Given the description of an element on the screen output the (x, y) to click on. 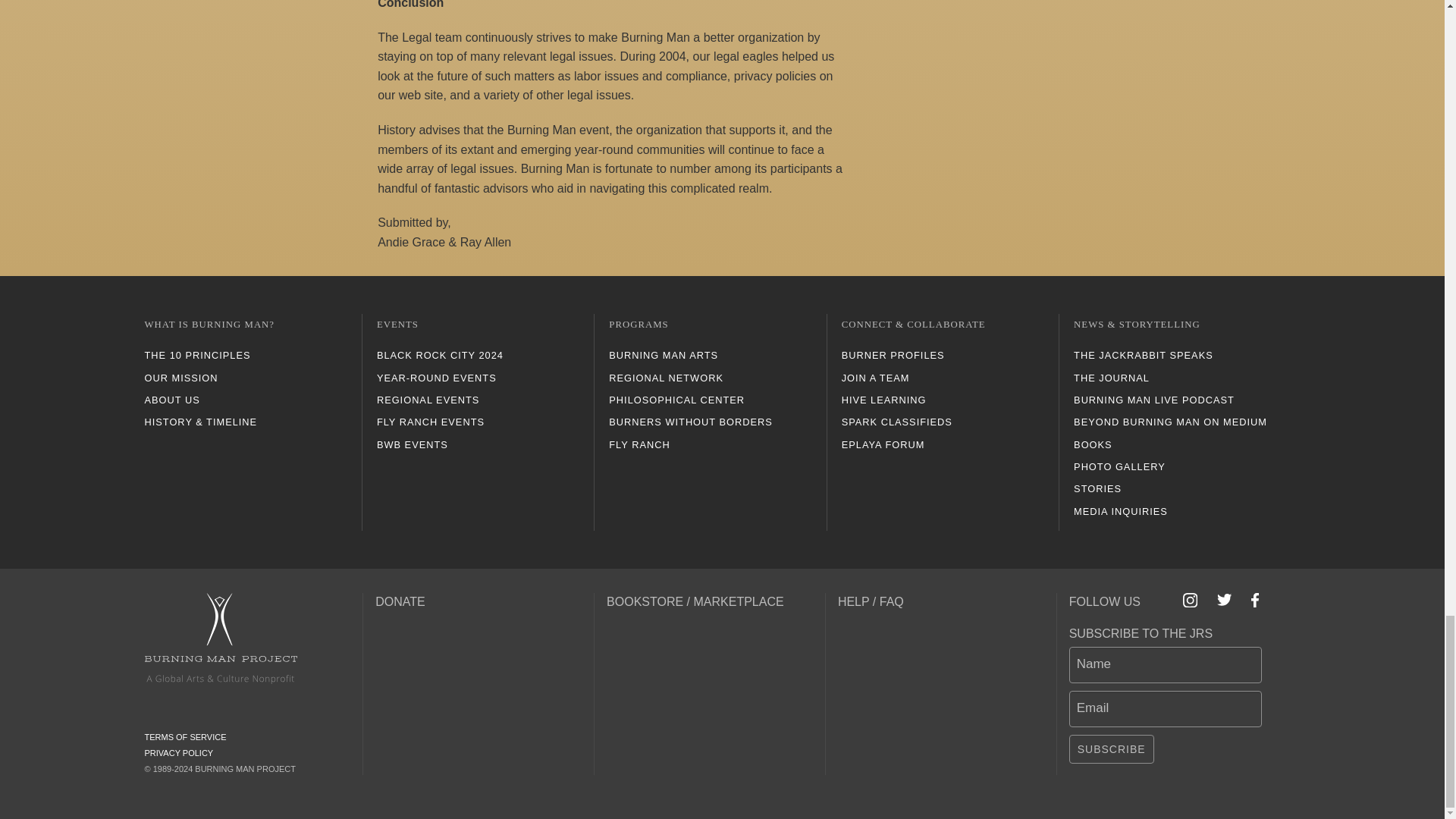
LINK TO BURNING MAN INSTAGRAM (1190, 599)
LINK TO BURNING MAN TWITTER (1224, 599)
